Given the description of an element on the screen output the (x, y) to click on. 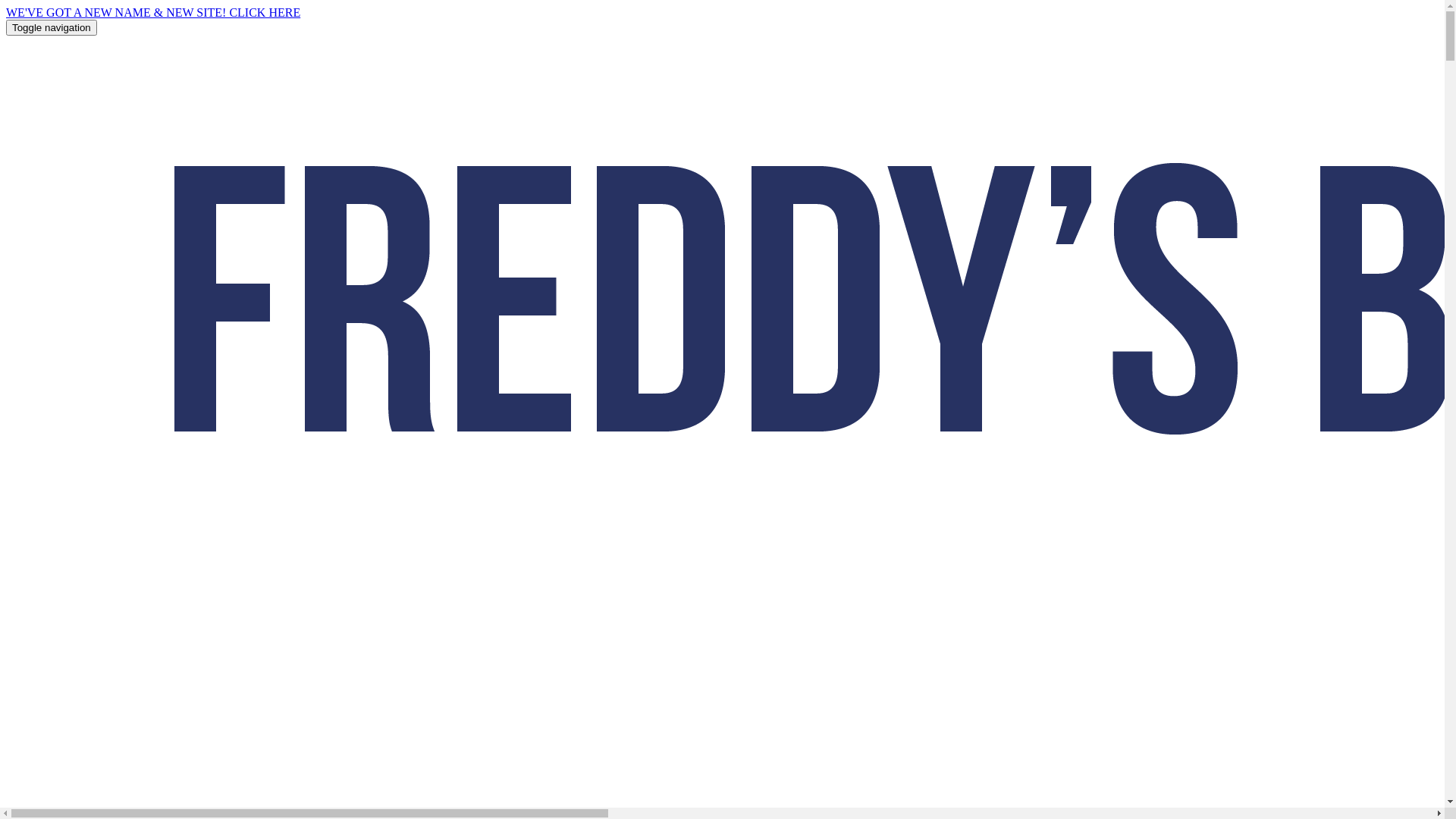
Toggle navigation Element type: text (51, 27)
WE'VE GOT A NEW NAME & NEW SITE! CLICK HERE Element type: text (153, 12)
